Given the description of an element on the screen output the (x, y) to click on. 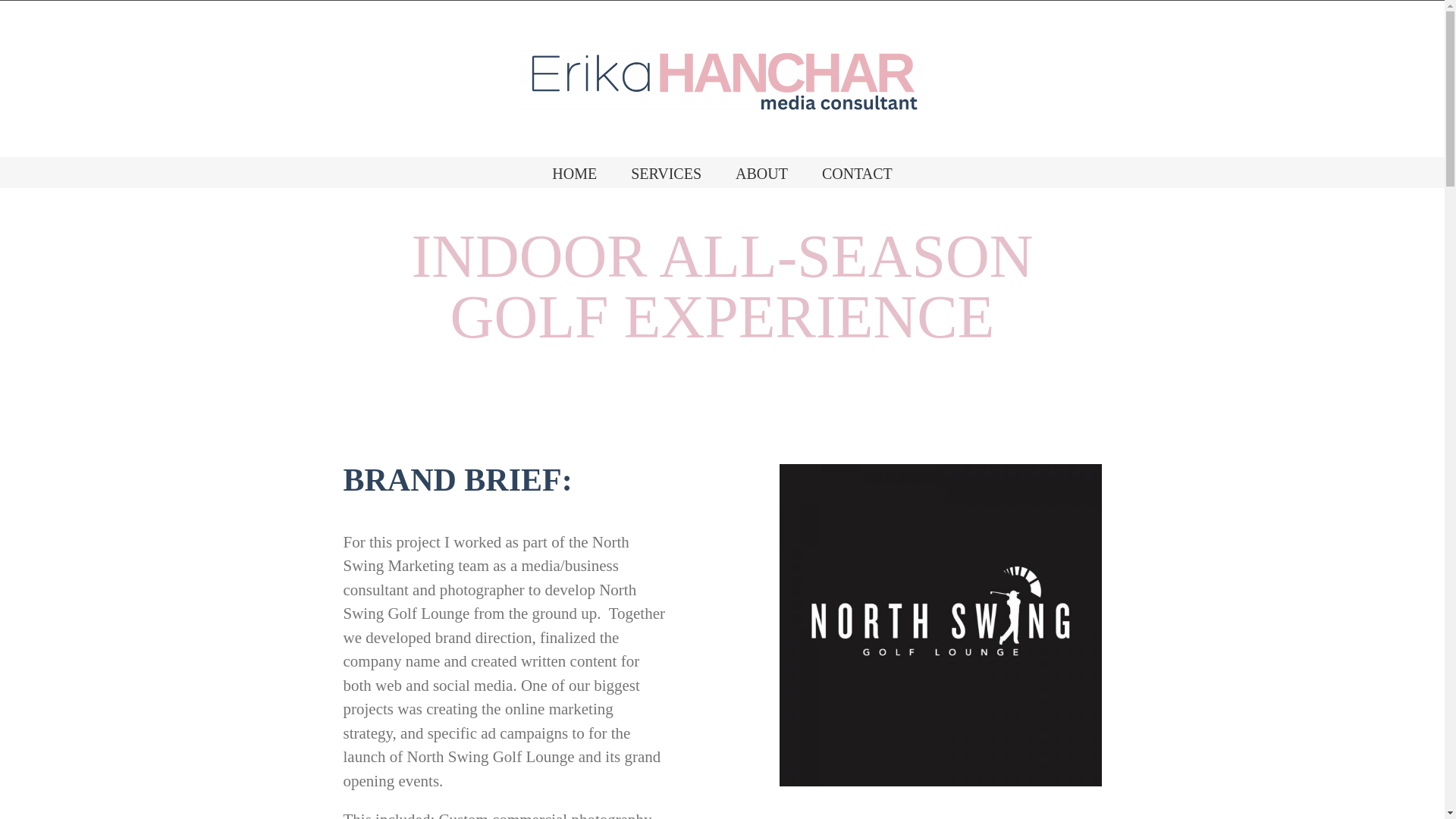
ABOUT (761, 172)
SERVICES (665, 172)
HOME (573, 172)
CONTACT (857, 172)
North Swing Logo (940, 625)
